Given the description of an element on the screen output the (x, y) to click on. 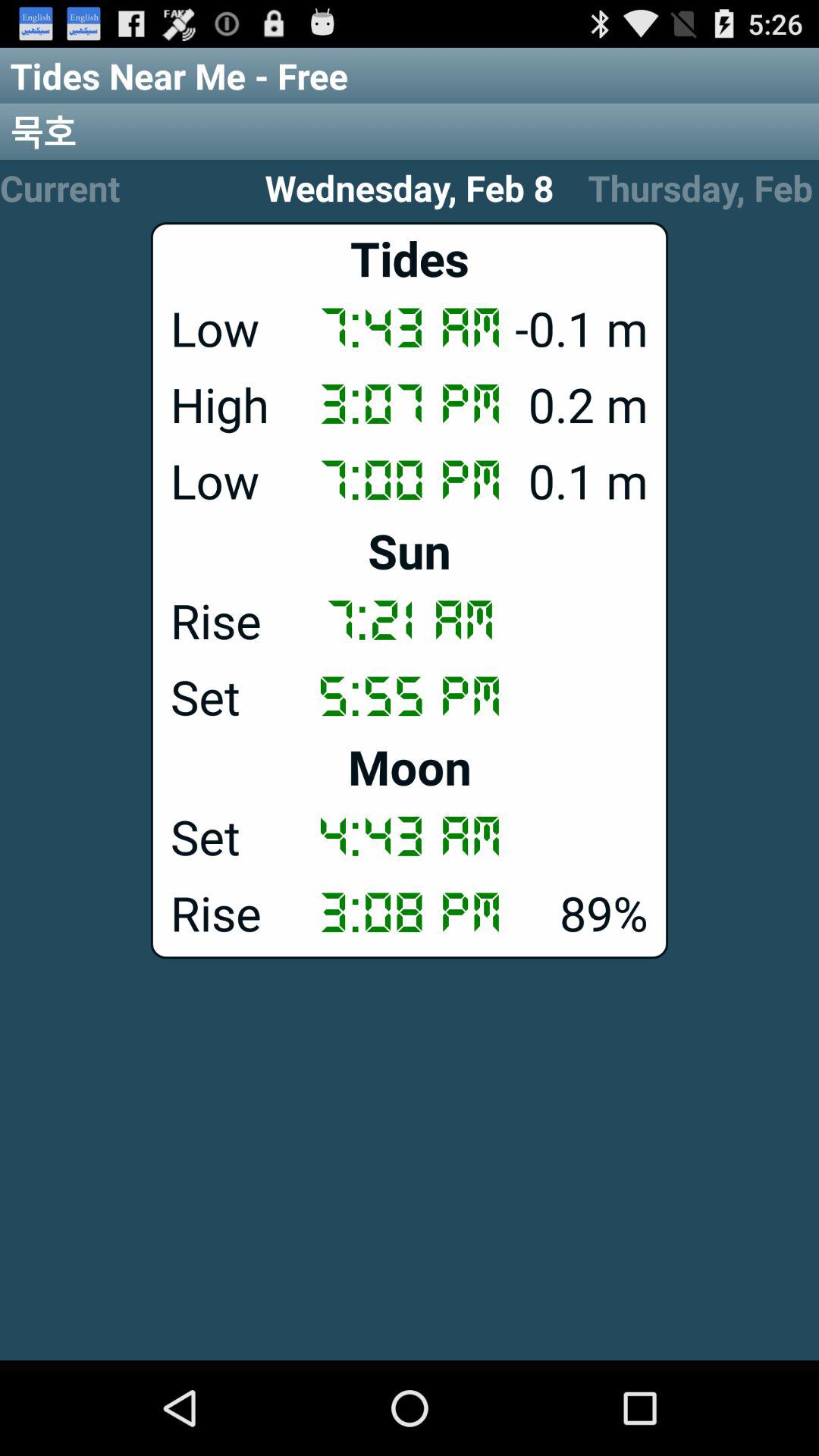
swipe until the sun icon (409, 550)
